Given the description of an element on the screen output the (x, y) to click on. 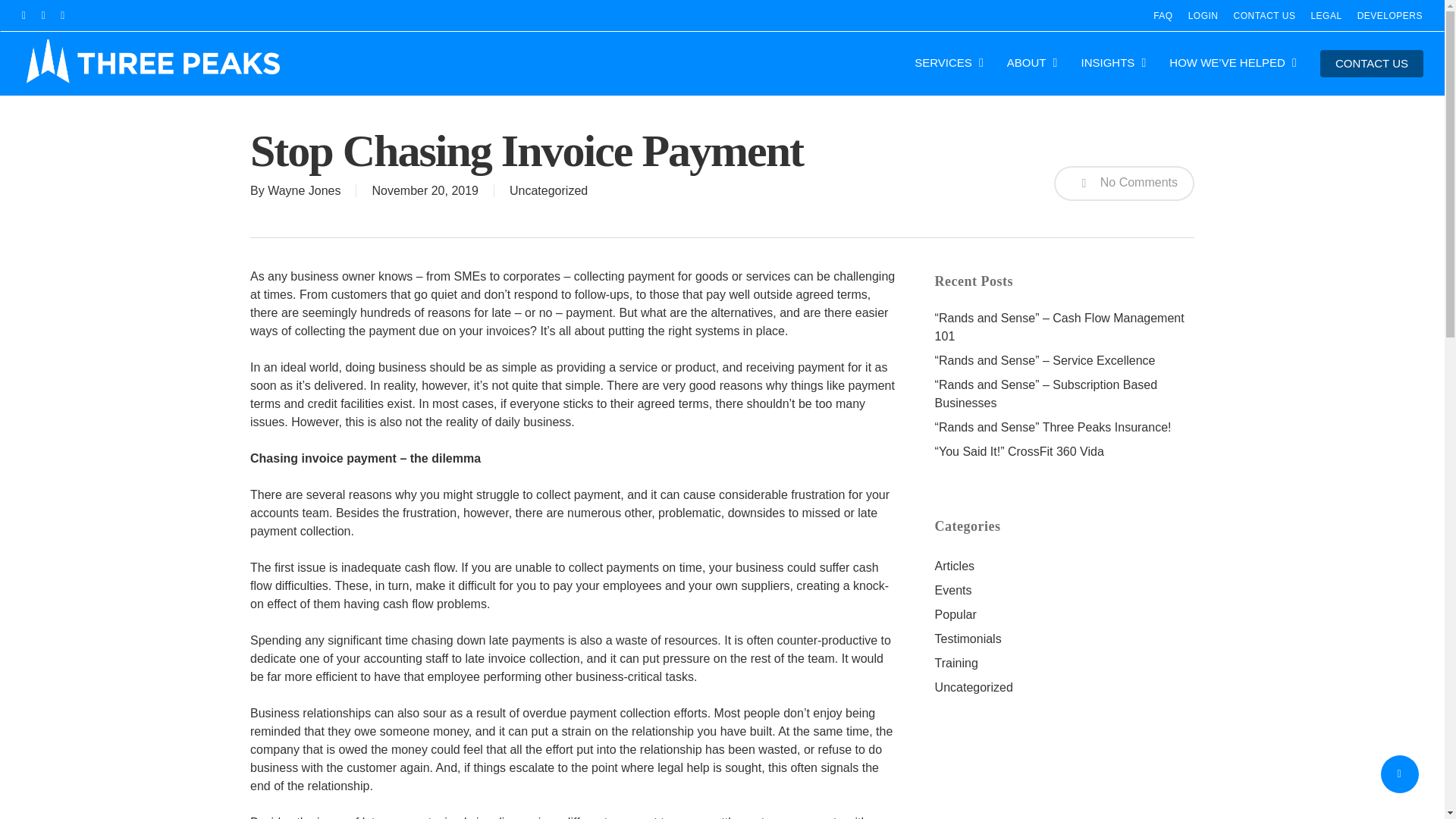
Articles (1063, 566)
CONTACT US (1371, 63)
No Comments (1123, 183)
CONTACT US (1264, 15)
youtube (63, 15)
INSIGHTS (1115, 62)
ABOUT (1034, 62)
Testimonials (1063, 638)
Training (1063, 663)
Events (1063, 590)
FAQ (1163, 15)
Wayne Jones (303, 190)
DEVELOPERS (1389, 15)
Posts by Wayne Jones (303, 190)
Uncategorized (548, 190)
